Given the description of an element on the screen output the (x, y) to click on. 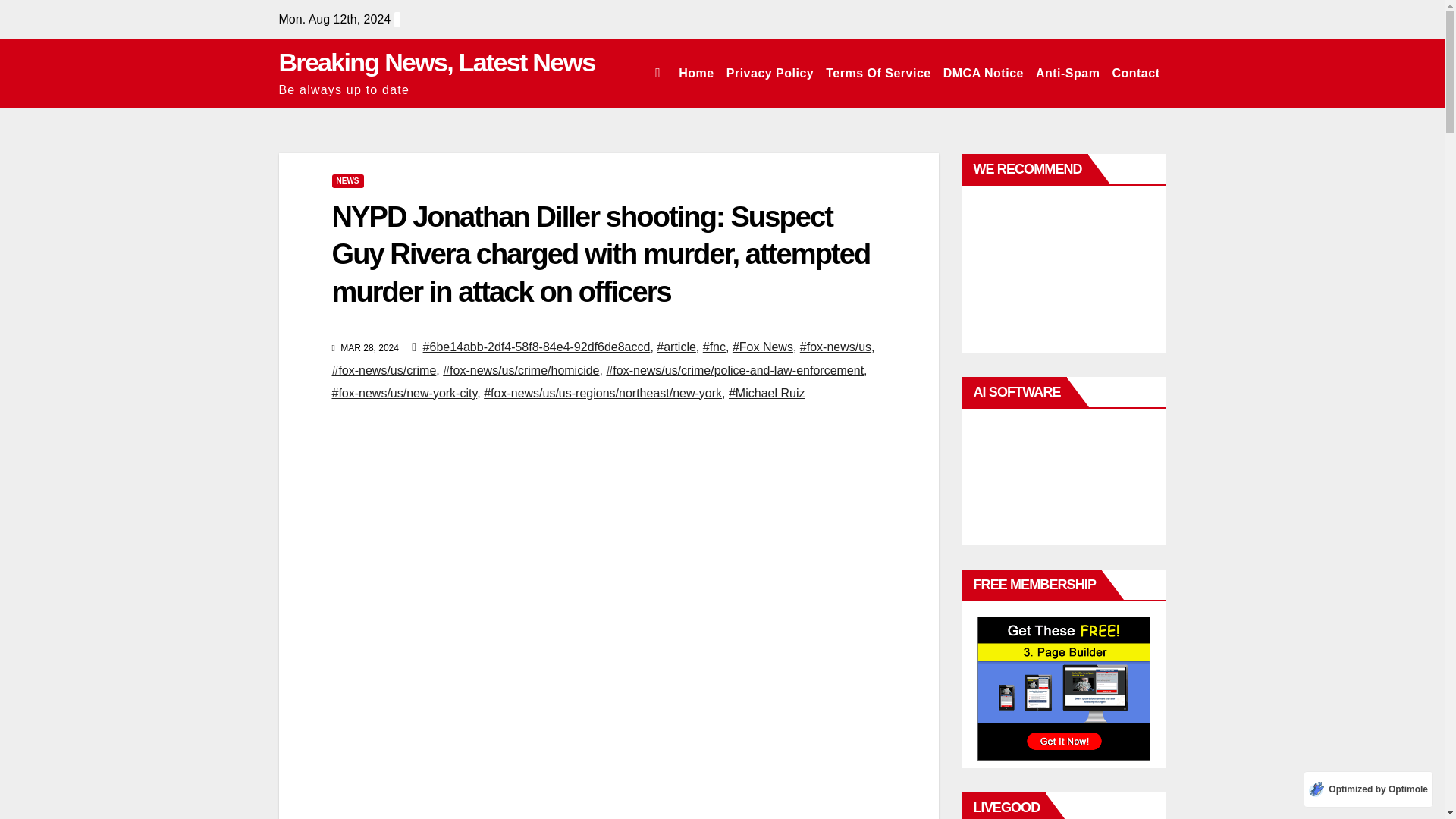
Breaking News, Latest News (437, 61)
DMCA Notice (983, 73)
Privacy Policy (770, 73)
DMCA Notice (983, 73)
Privacy Policy (770, 73)
Anti-Spam (1067, 73)
Anti-Spam (1067, 73)
